Given the description of an element on the screen output the (x, y) to click on. 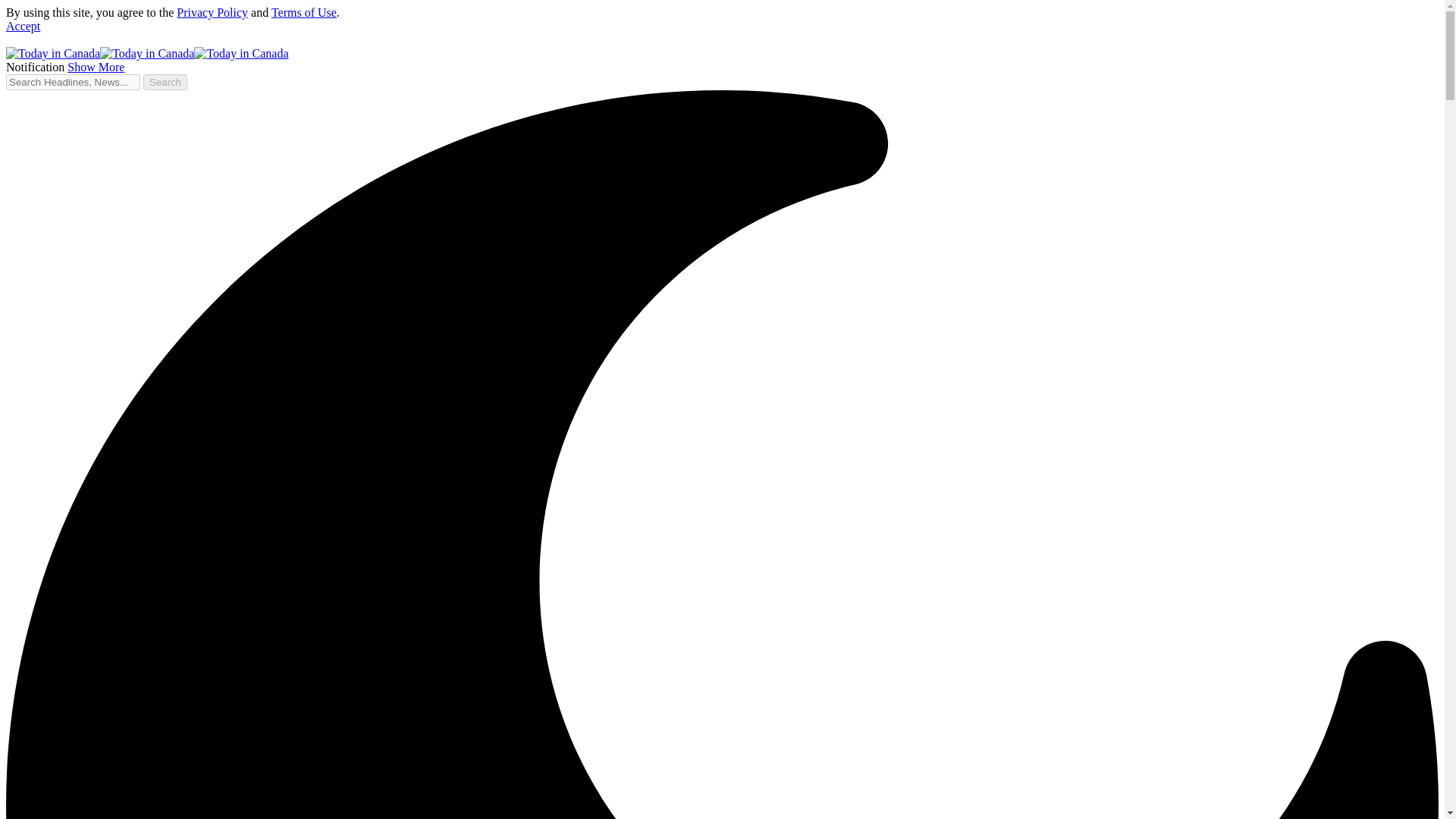
Show More (94, 66)
Privacy Policy (211, 11)
Today in Canada (146, 52)
Accept (22, 25)
Search (164, 82)
Search (164, 82)
Terms of Use (303, 11)
